Given the description of an element on the screen output the (x, y) to click on. 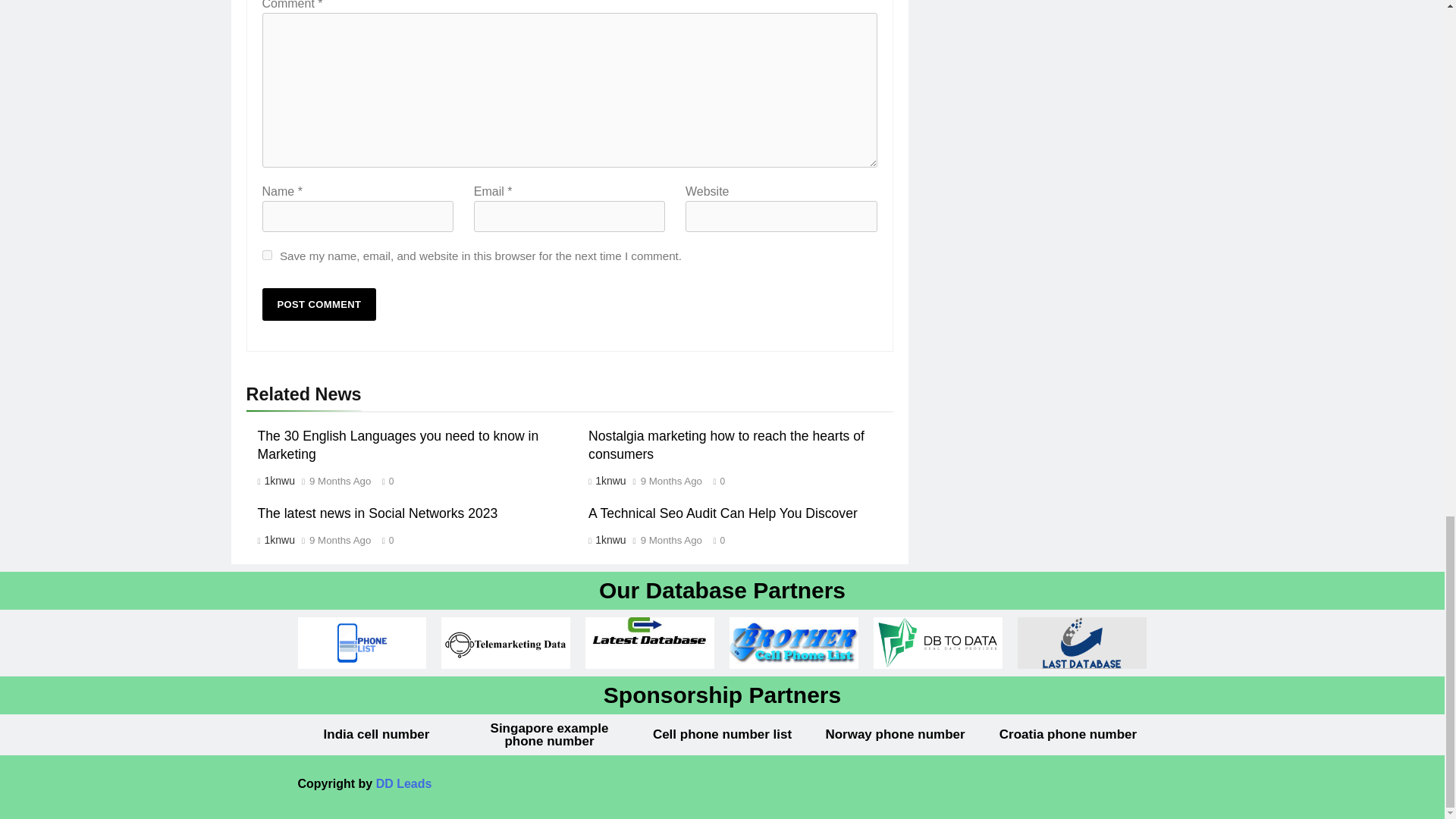
Nostalgia marketing how to reach the hearts of consumers (726, 444)
yes (267, 255)
1knwu (279, 480)
Post Comment (319, 304)
The 30 English Languages you need to know in Marketing (397, 444)
Post Comment (319, 304)
0 (384, 480)
9 Months Ago (339, 480)
